Given the description of an element on the screen output the (x, y) to click on. 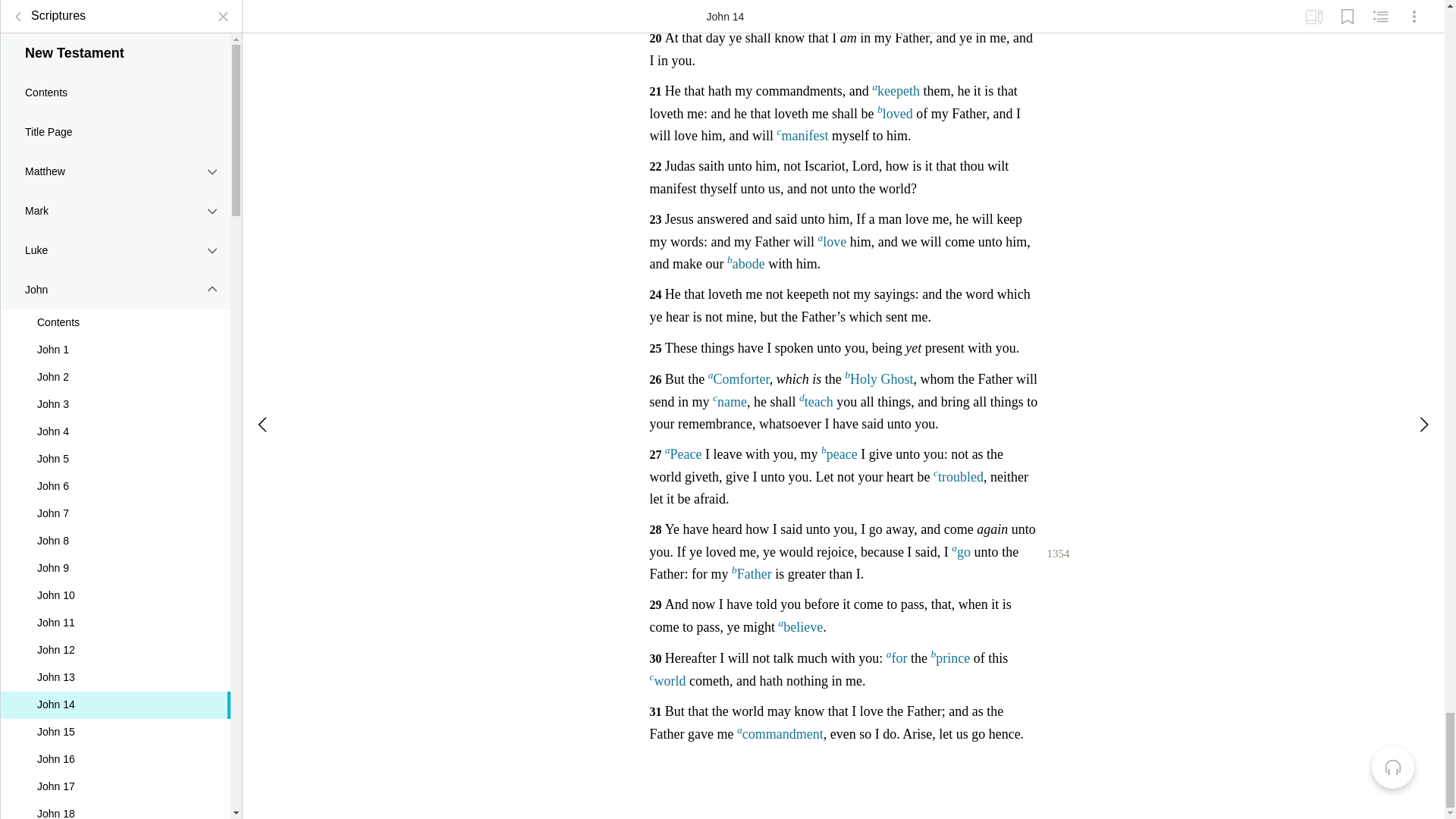
Philippians (115, 13)
1 Thessalonians (115, 86)
Colossians (115, 46)
2 Thessalonians (115, 125)
